Given the description of an element on the screen output the (x, y) to click on. 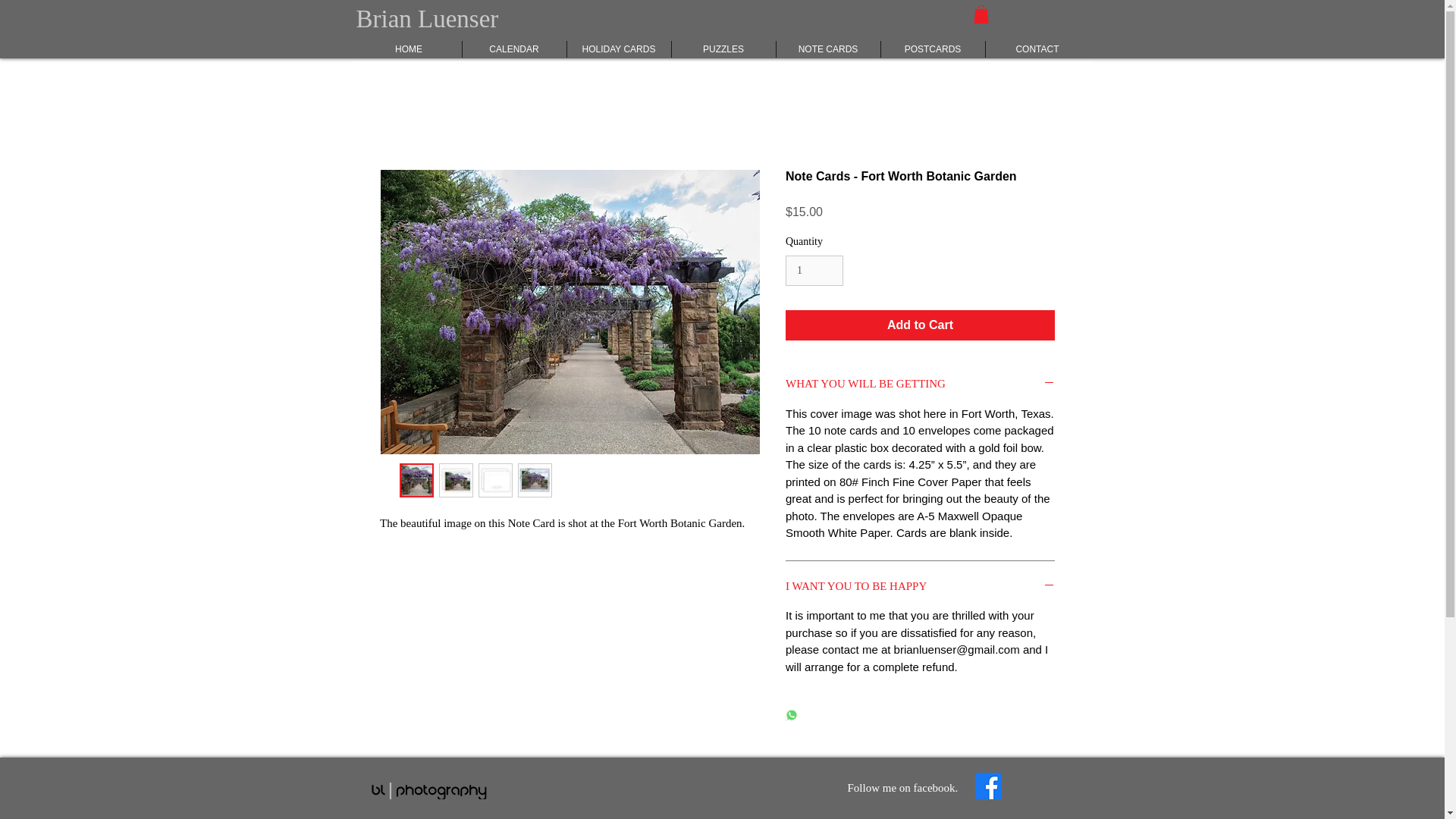
Add to Cart (920, 325)
1 (814, 270)
POSTCARDS (932, 48)
CALENDAR (514, 48)
Brian Luenser (427, 18)
HOME (408, 48)
HOLIDAY CARDS (619, 48)
WHAT YOU WILL BE GETTING (920, 384)
NOTE CARDS (828, 48)
I WANT YOU TO BE HAPPY (920, 587)
PUZZLES (723, 48)
CONTACT (1037, 48)
Follow me on facebook. (902, 787)
